Given the description of an element on the screen output the (x, y) to click on. 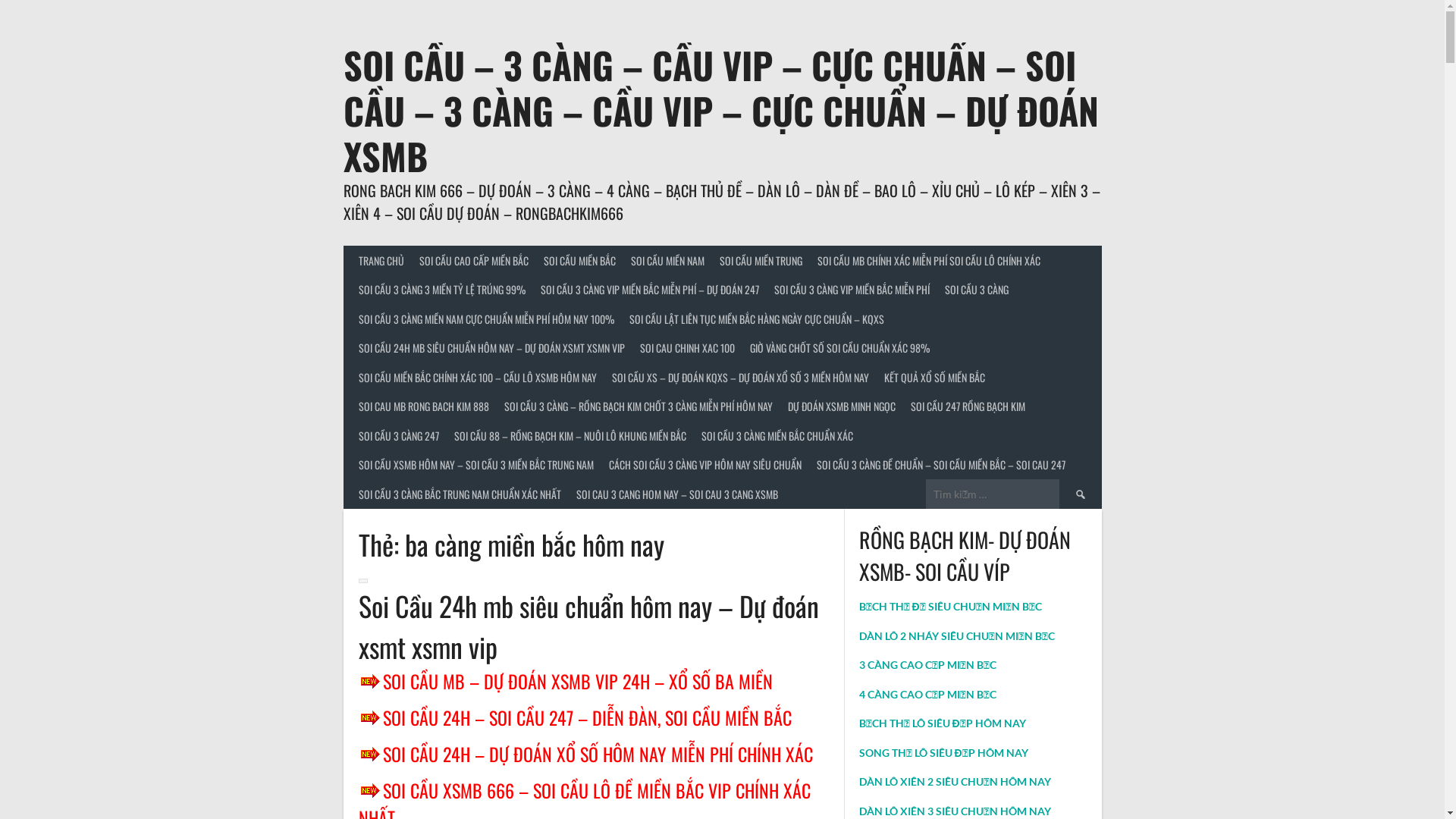
SOI CAU CHINH XAC 100 Element type: text (687, 348)
SOI CAU MB RONG BACH KIM 888 Element type: text (422, 405)
